Given the description of an element on the screen output the (x, y) to click on. 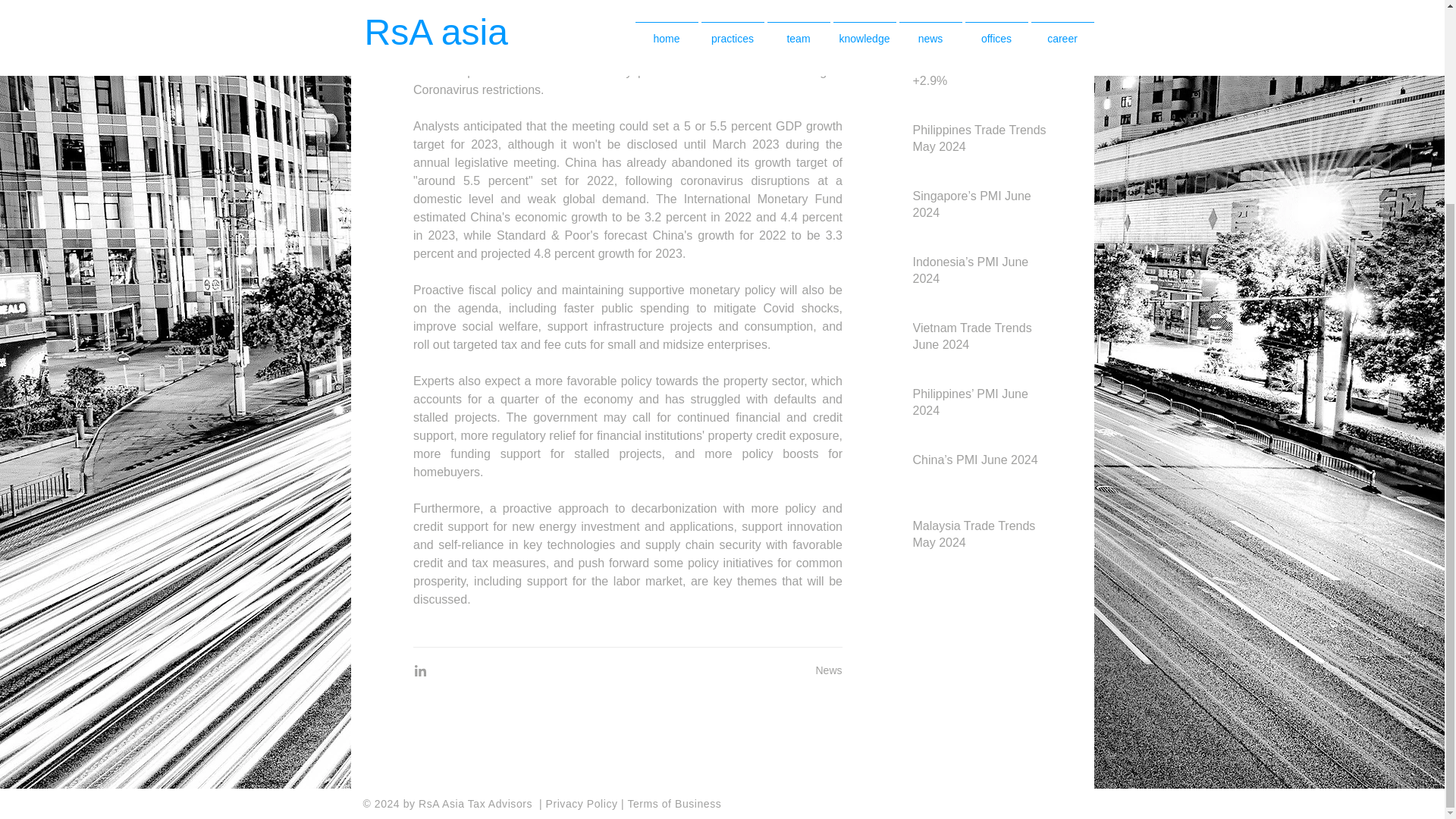
Privacy Policy (583, 803)
Philippines Trade Trends May 2024 (981, 142)
News (828, 670)
Malaysia Trade Trends May 2024 (981, 537)
Terms of Business (673, 803)
Vietnam Trade Trends June 2024 (981, 340)
